Given the description of an element on the screen output the (x, y) to click on. 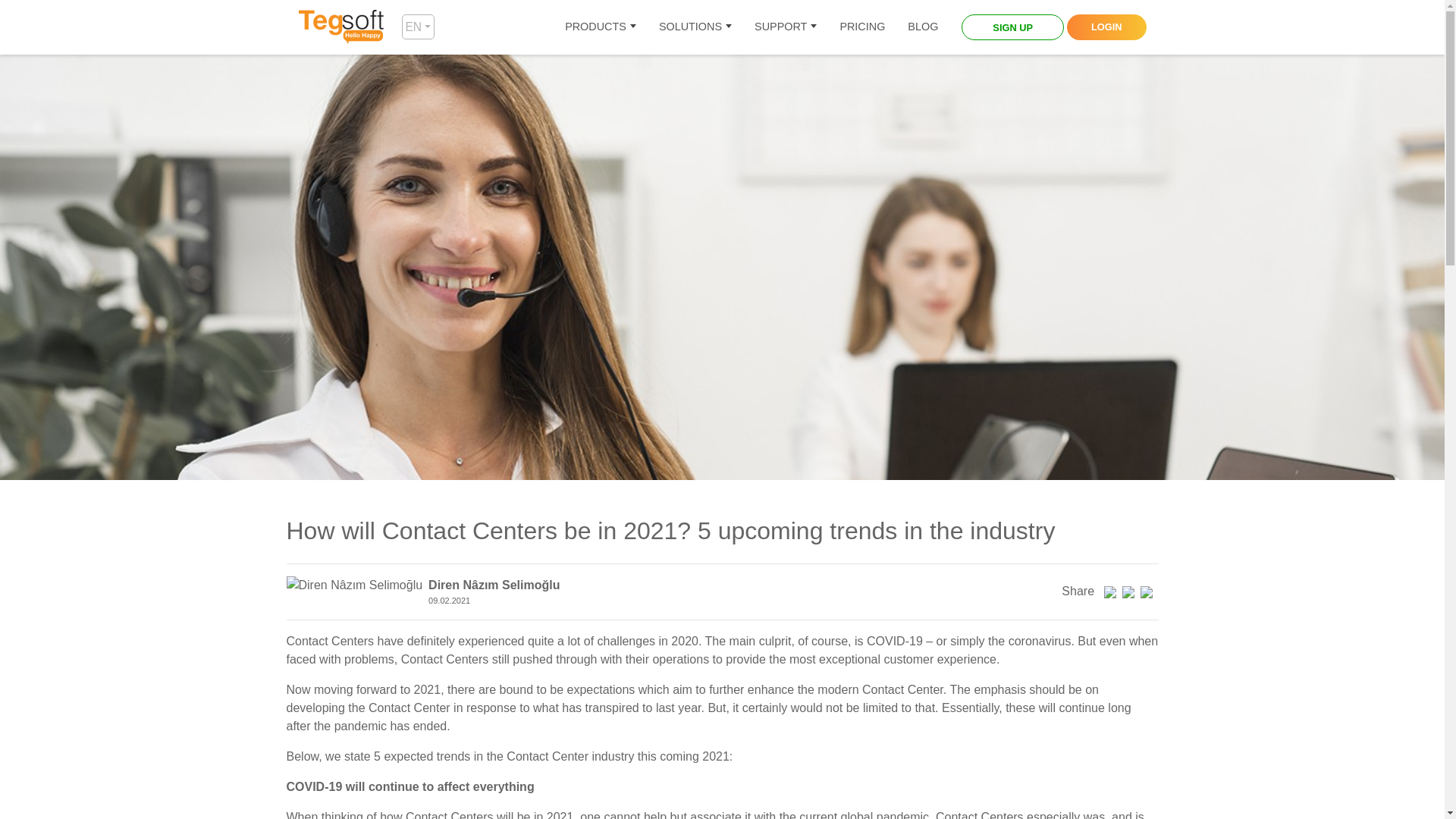
INBOUND (647, 115)
PRODUCTS (600, 27)
FINANCE (843, 169)
EN (417, 26)
OMNICHANNEL (647, 196)
API DOCUMENTATION (837, 124)
PRODUCTS (600, 27)
TEXT BASED (647, 89)
INTEGRATIONS (837, 70)
PRICING (862, 27)
ENERGY (843, 143)
SIGN UP (1012, 27)
REAL ESTATE (709, 143)
INSURANCE (709, 115)
KNOWLEDGE BASE (837, 150)
